Given the description of an element on the screen output the (x, y) to click on. 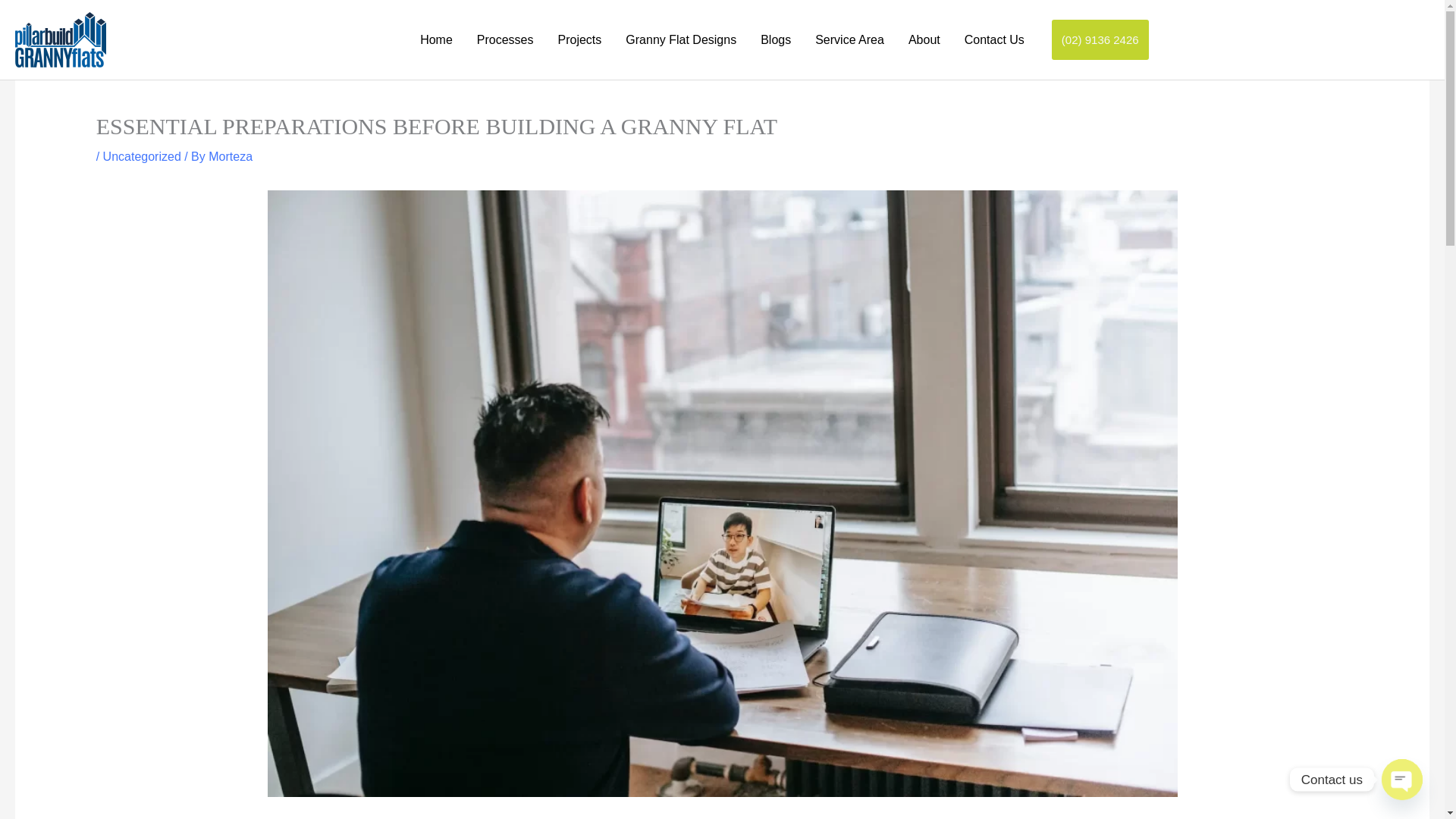
Processes (505, 39)
Granny Flat Designs (680, 39)
Projects (580, 39)
Morteza (229, 155)
Contact Us (994, 39)
Blogs (775, 39)
About (924, 39)
View all posts by Morteza (229, 155)
Home (435, 39)
Service Area (849, 39)
